Given the description of an element on the screen output the (x, y) to click on. 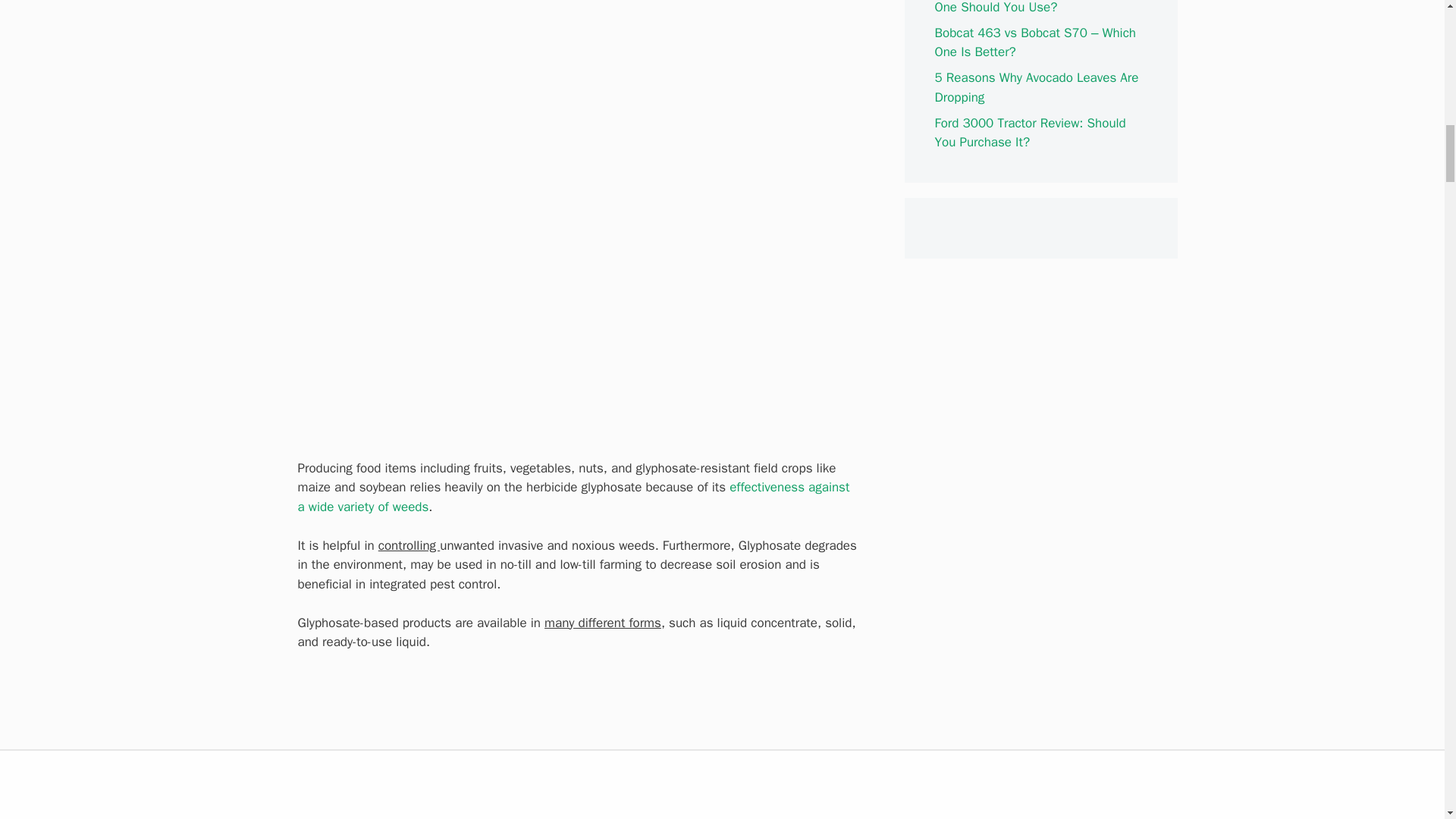
effectiveness against a wide variety of weeds (572, 497)
Glacial Rock Dust vs Azomite- Which One Should You Use? (1037, 7)
5 Reasons Why Avocado Leaves Are Dropping (1036, 87)
Ford 3000 Tractor Review: Should You Purchase It? (1029, 132)
